Given the description of an element on the screen output the (x, y) to click on. 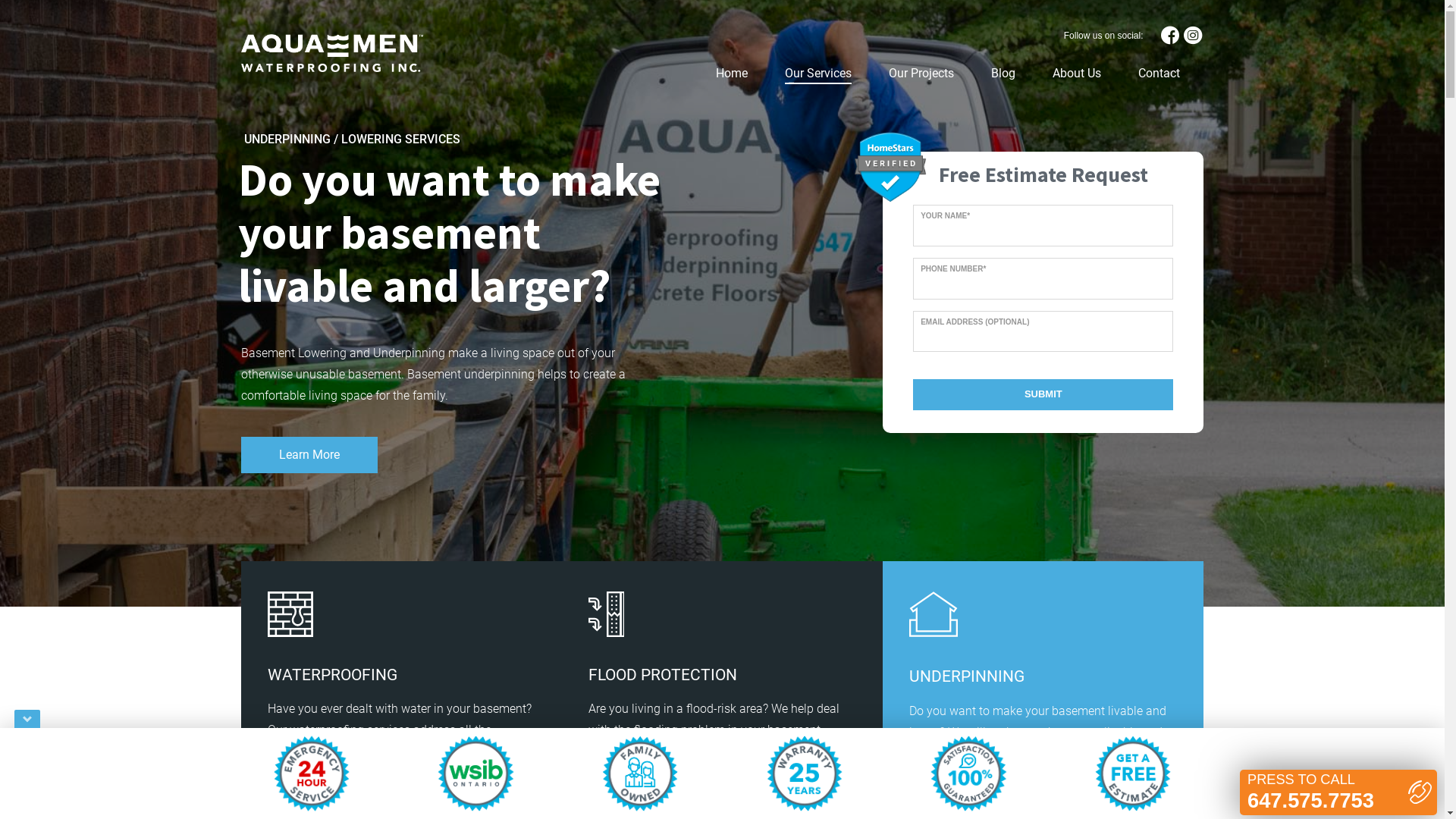
homestars verified badge Element type: hover (890, 166)
Blog Element type: text (1002, 73)
Basement Waterproofing and Underpinning Solutions Element type: hover (332, 52)
Aquamen-WSIB Element type: hover (475, 773)
Aquamen-Icon-Waterproofwall-white Element type: hover (606, 614)
Aquamen-100 Element type: hover (968, 773)
Home Element type: text (731, 73)
Aquamen-FREE Element type: hover (1132, 773)
Our Projects Element type: text (921, 73)
Our Services Element type: text (817, 73)
Aquamen-25-years Element type: hover (804, 773)
Learn More Element type: text (309, 454)
Aquamen-lowering-underpinning Element type: hover (933, 614)
SUBMIT Element type: text (1043, 394)
Facebook Element type: hover (1169, 35)
Aquamen-24-7 Element type: hover (311, 773)
Contact Element type: text (1158, 73)
About Us Element type: text (1076, 73)
Aquamen-Icon-Wallleak-white Element type: hover (289, 614)
Aquamen-Family Element type: hover (639, 773)
PRESS TO CALL
647.575.7753 Element type: text (1338, 792)
Instagram Element type: hover (1192, 35)
Aquamen on Homestars Element type: hover (890, 165)
